Given the description of an element on the screen output the (x, y) to click on. 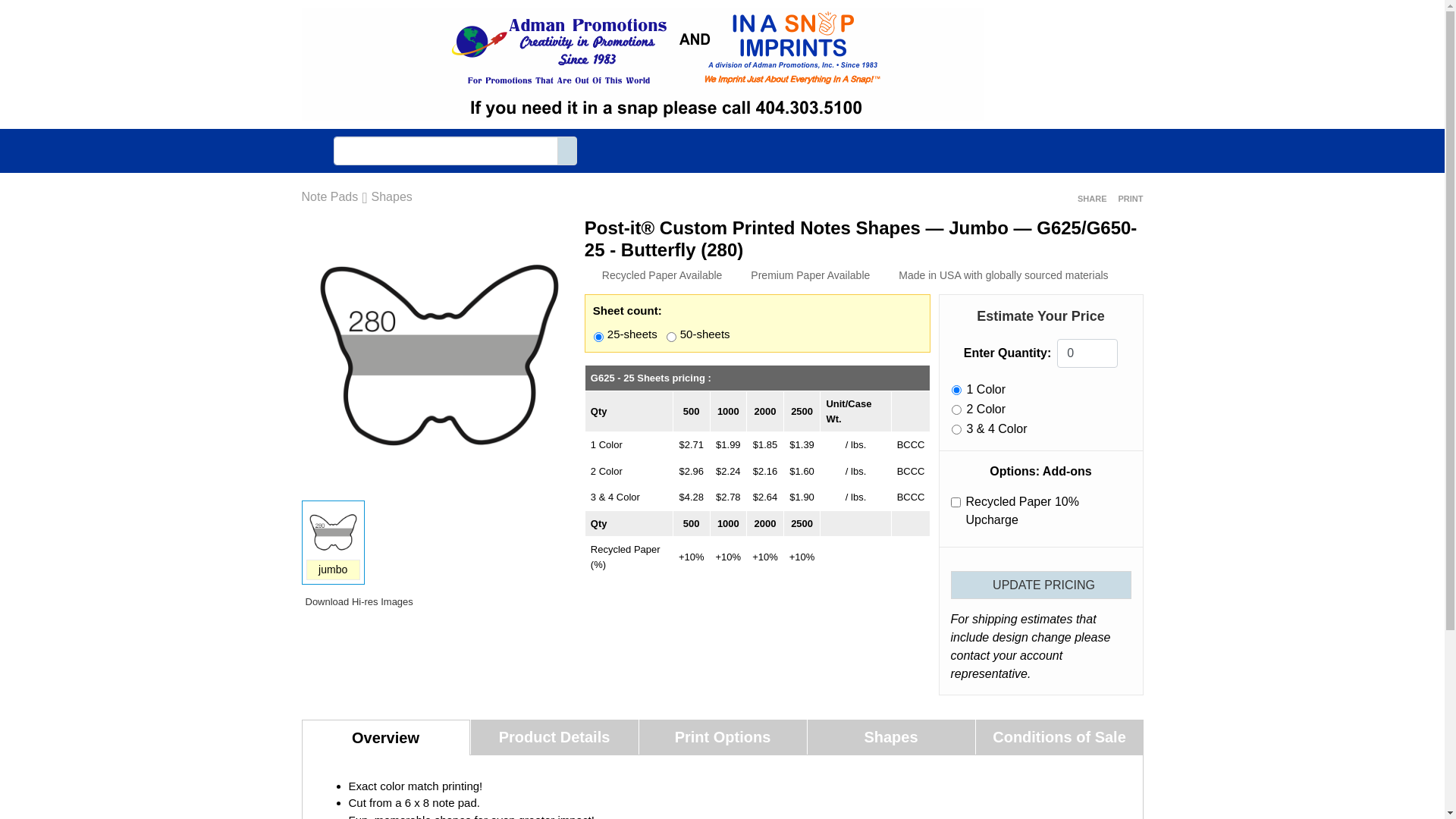
jumbo Element type: text (333, 569)
UPDATE PRICING Element type: text (1040, 585)
PRINT Element type: text (1128, 198)
Download Hi-res Images Element type: text (357, 601)
Product Details Element type: text (553, 736)
Shapes Element type: text (391, 197)
Print Options Element type: text (722, 736)
Overview Element type: text (385, 737)
Shapes Element type: text (890, 736)
Note Pads Element type: text (329, 197)
SHARE Element type: text (1090, 198)
Conditions of Sale Element type: text (1058, 736)
